Given the description of an element on the screen output the (x, y) to click on. 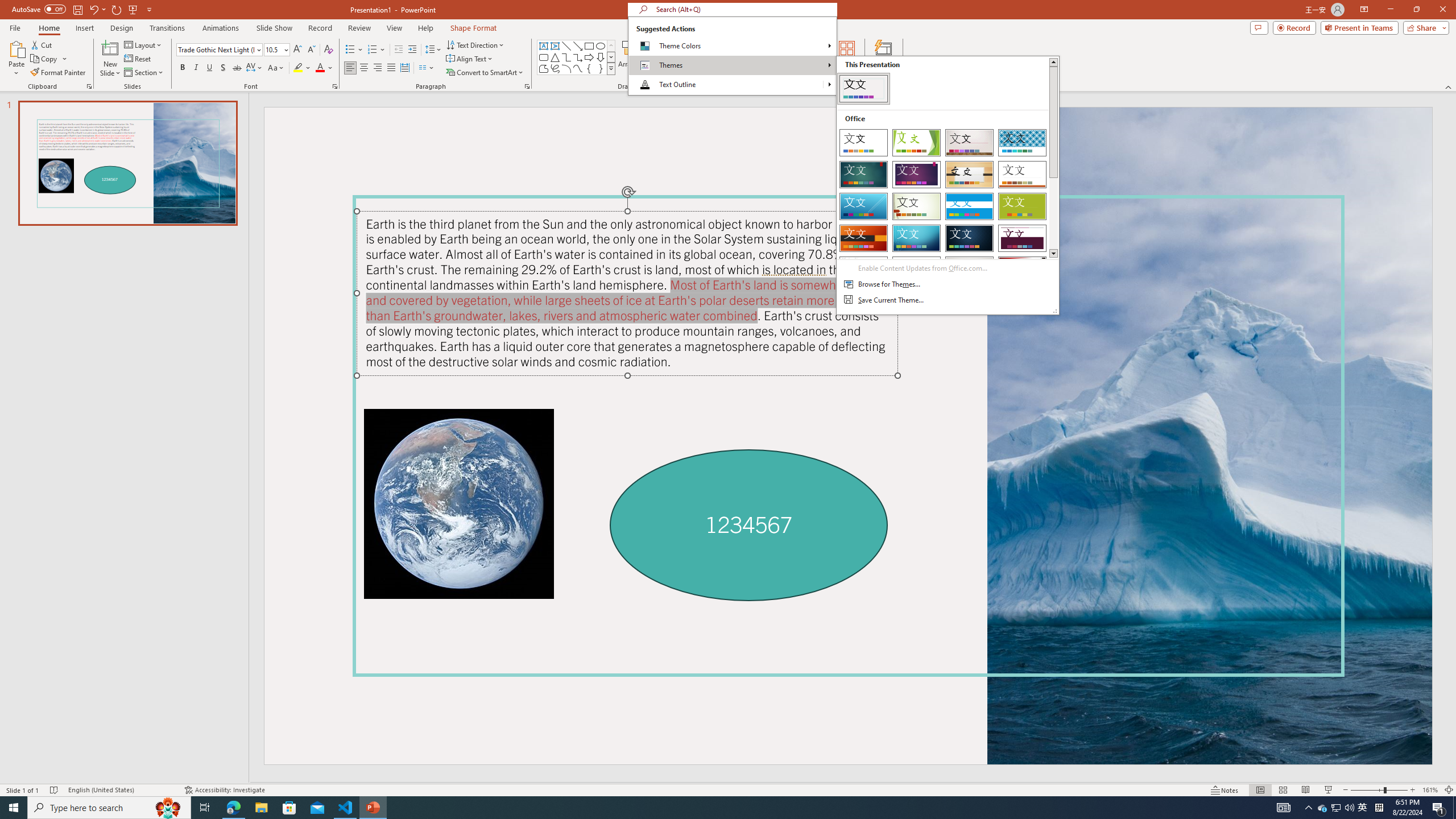
Character Spacing (254, 67)
Office Clipboard... (88, 85)
Font Color Red (320, 67)
Convert to SmartArt (485, 72)
